Given the description of an element on the screen output the (x, y) to click on. 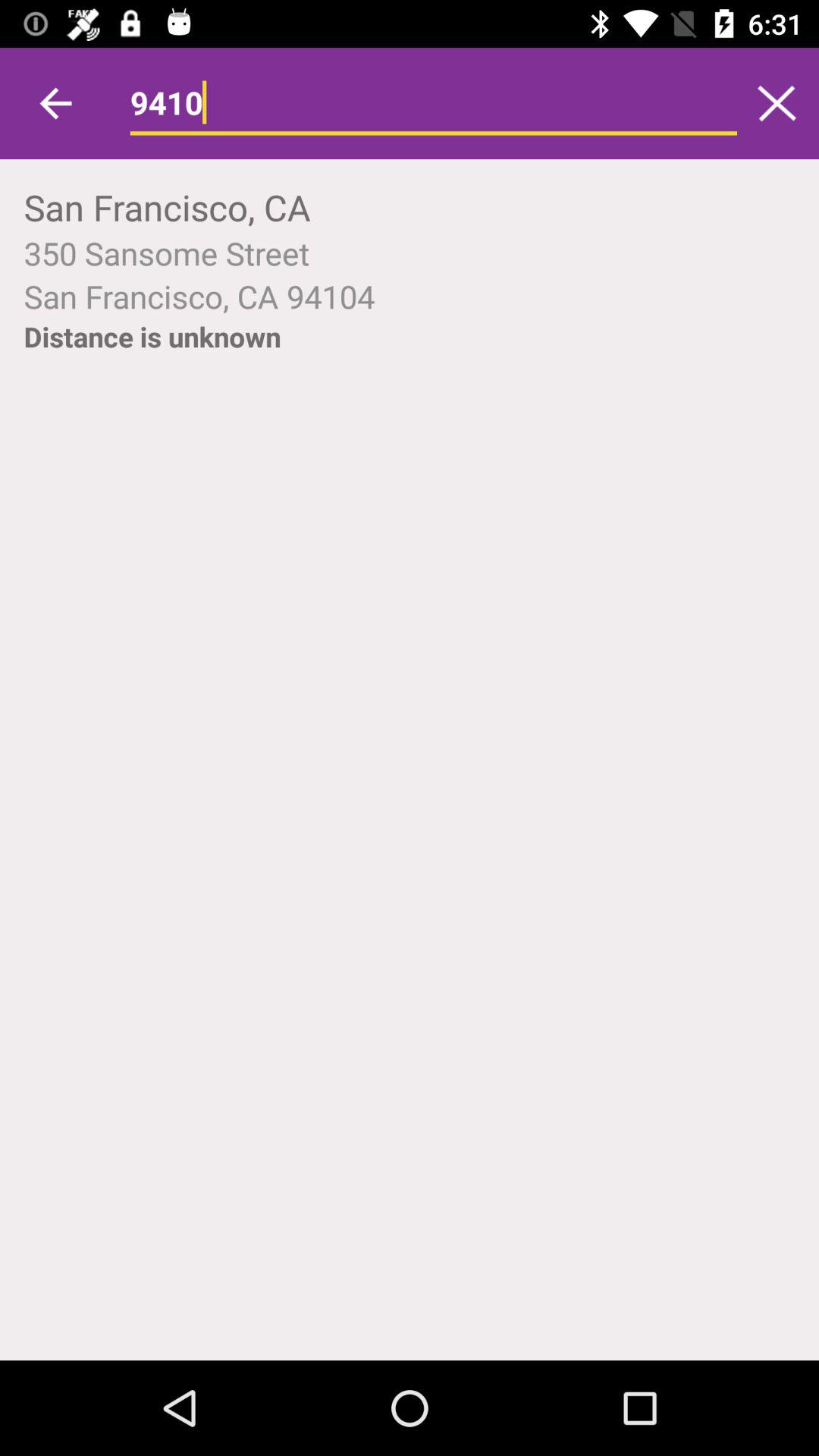
clear search box (776, 103)
